Given the description of an element on the screen output the (x, y) to click on. 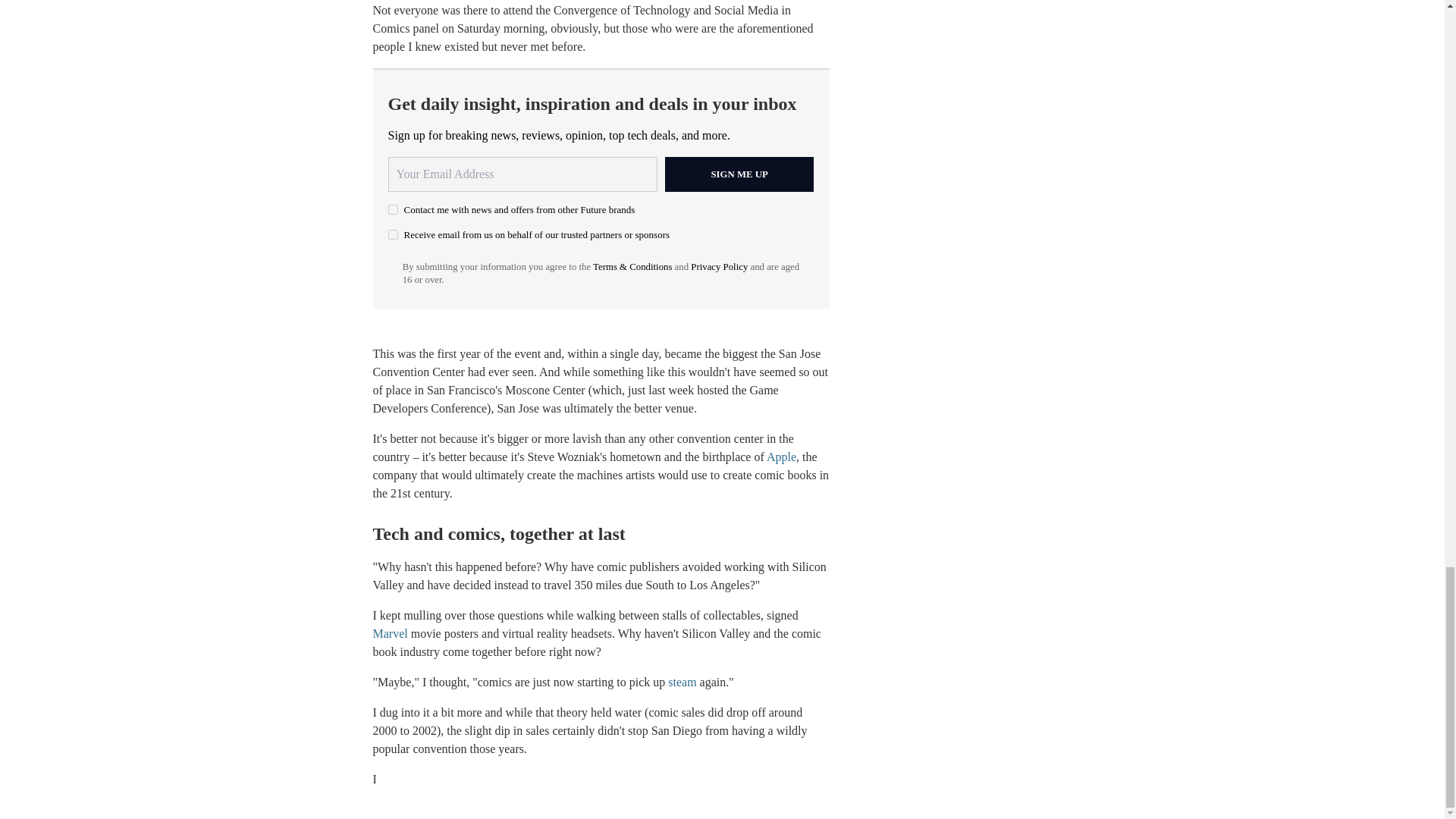
on (392, 209)
on (392, 234)
Sign me up (739, 174)
